Given the description of an element on the screen output the (x, y) to click on. 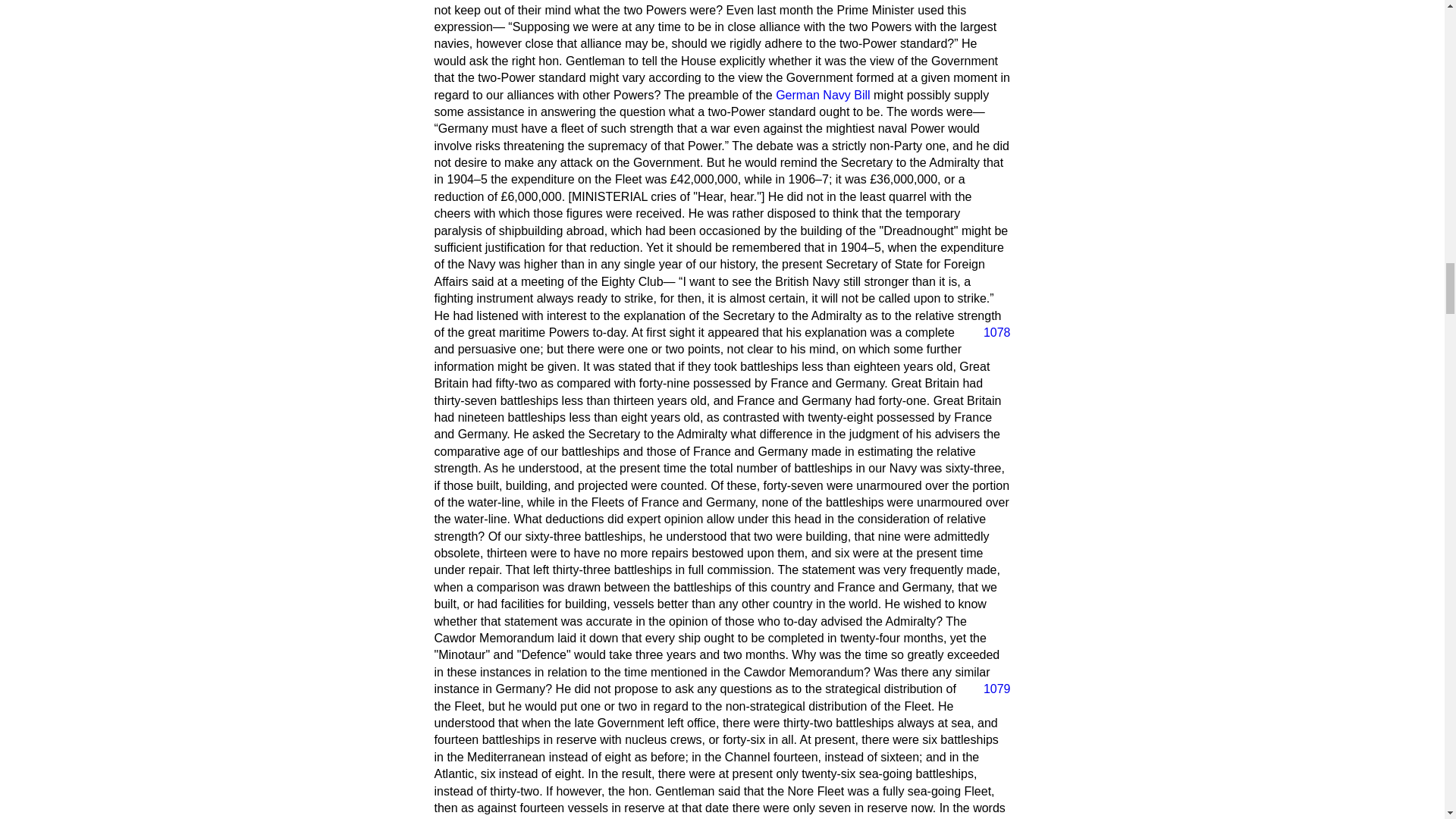
1078 (990, 332)
German Navy Bill (822, 94)
1079 (990, 688)
